Given the description of an element on the screen output the (x, y) to click on. 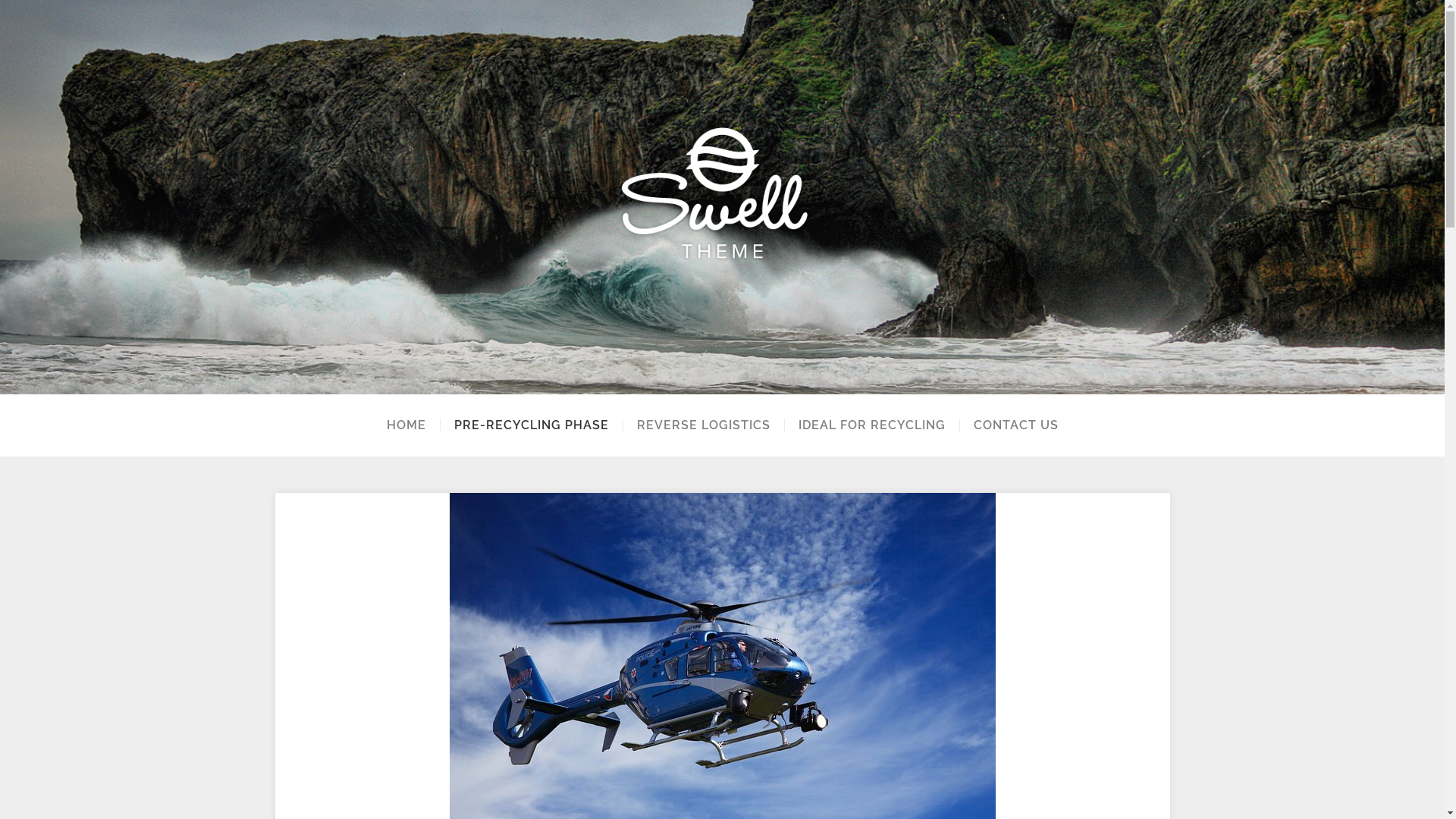
IDEAL FOR RECYCLING Element type: text (871, 425)
PRE-RECYCLING PHASE Element type: text (530, 425)
CONTACT US Element type: text (1014, 425)
HOME Element type: text (406, 425)
REVERSE LOGISTICS Element type: text (702, 425)
Italo Club Element type: text (722, 196)
